Given the description of an element on the screen output the (x, y) to click on. 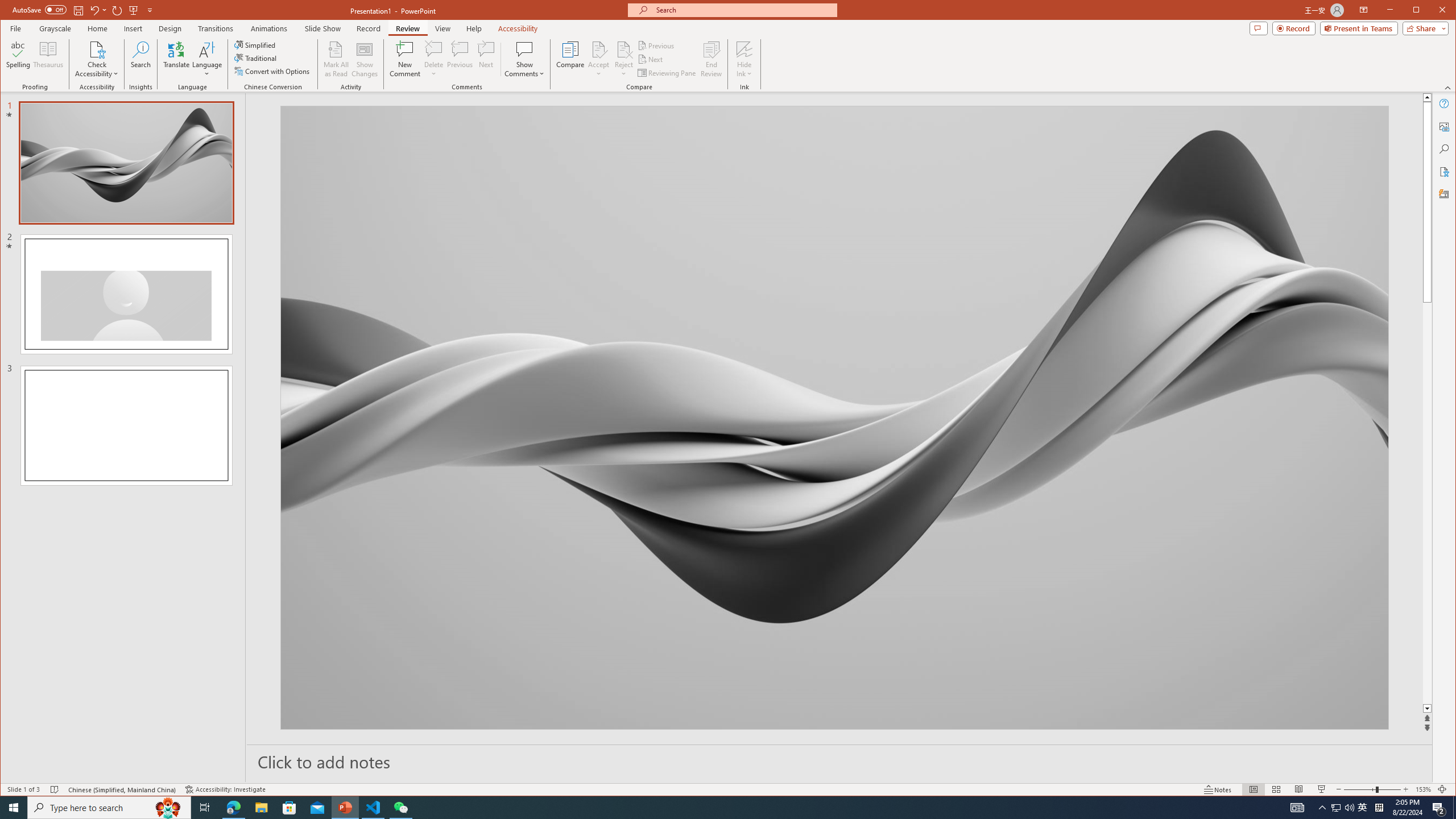
Accept (598, 59)
